Given the description of an element on the screen output the (x, y) to click on. 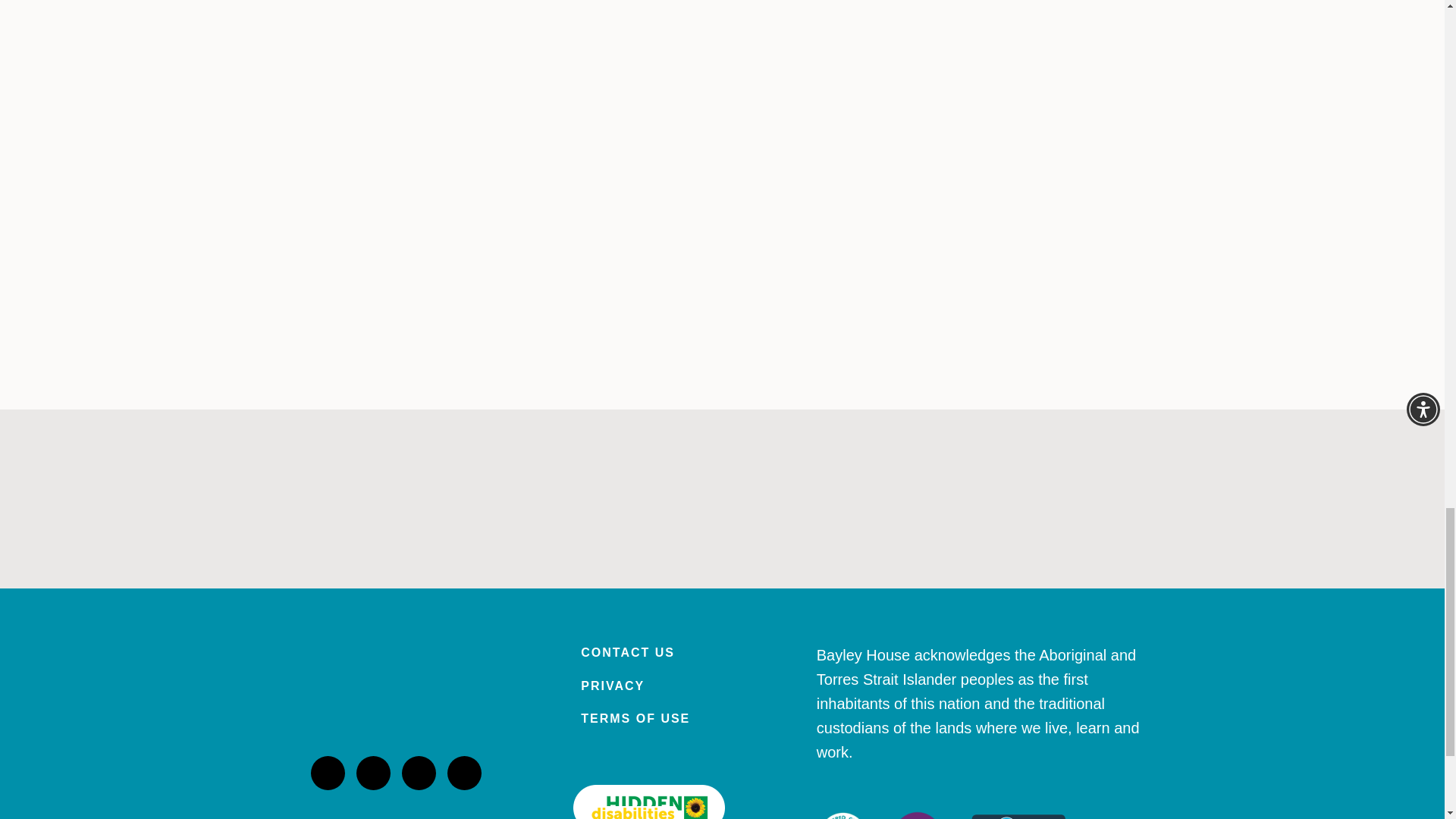
Instagram (328, 772)
Linkedin (373, 772)
Youtube (463, 772)
Facebook (418, 772)
